Given the description of an element on the screen output the (x, y) to click on. 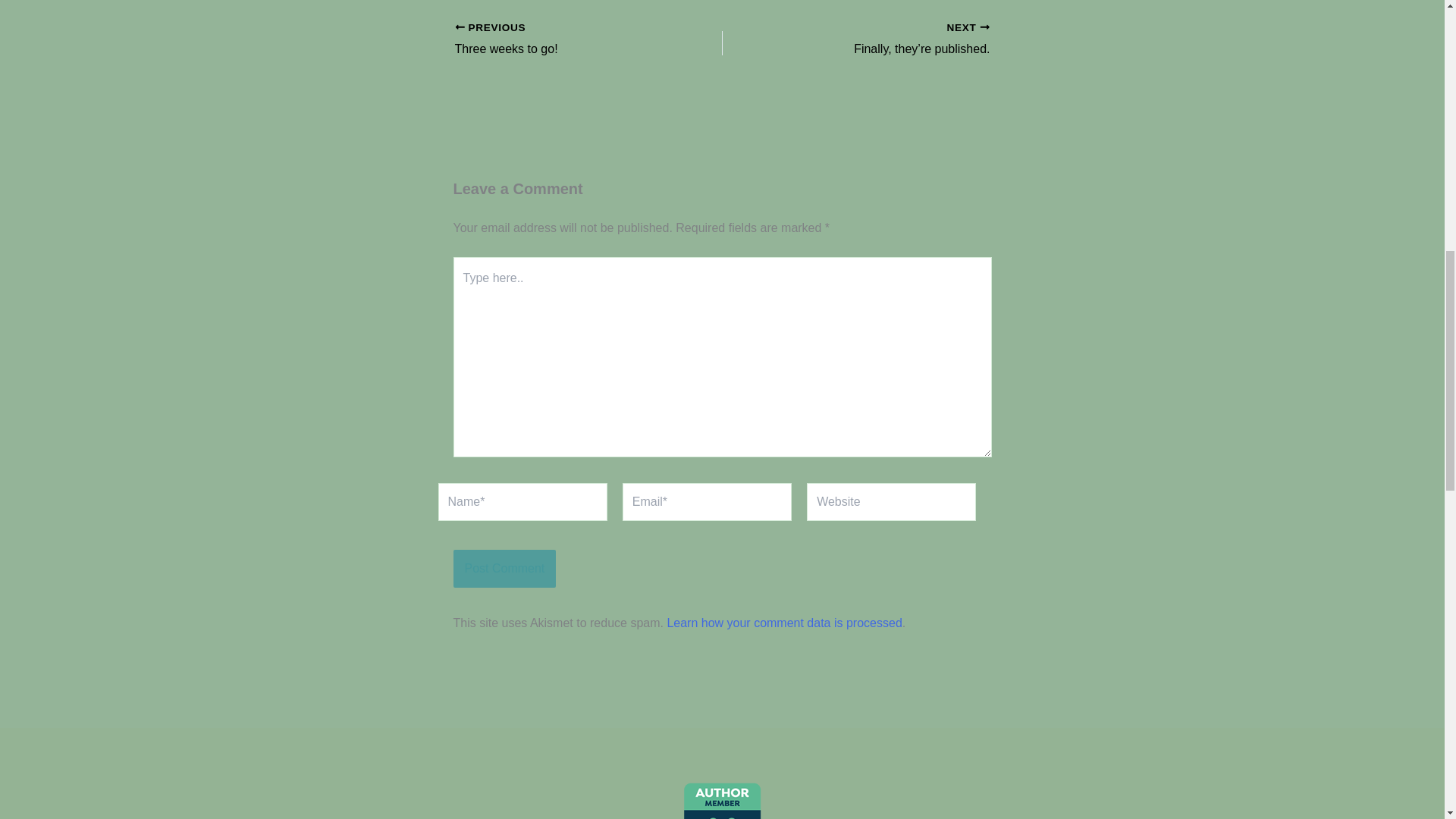
Three weeks to go! (561, 39)
Finally, they're published. (882, 39)
Post Comment (504, 568)
